Given the description of an element on the screen output the (x, y) to click on. 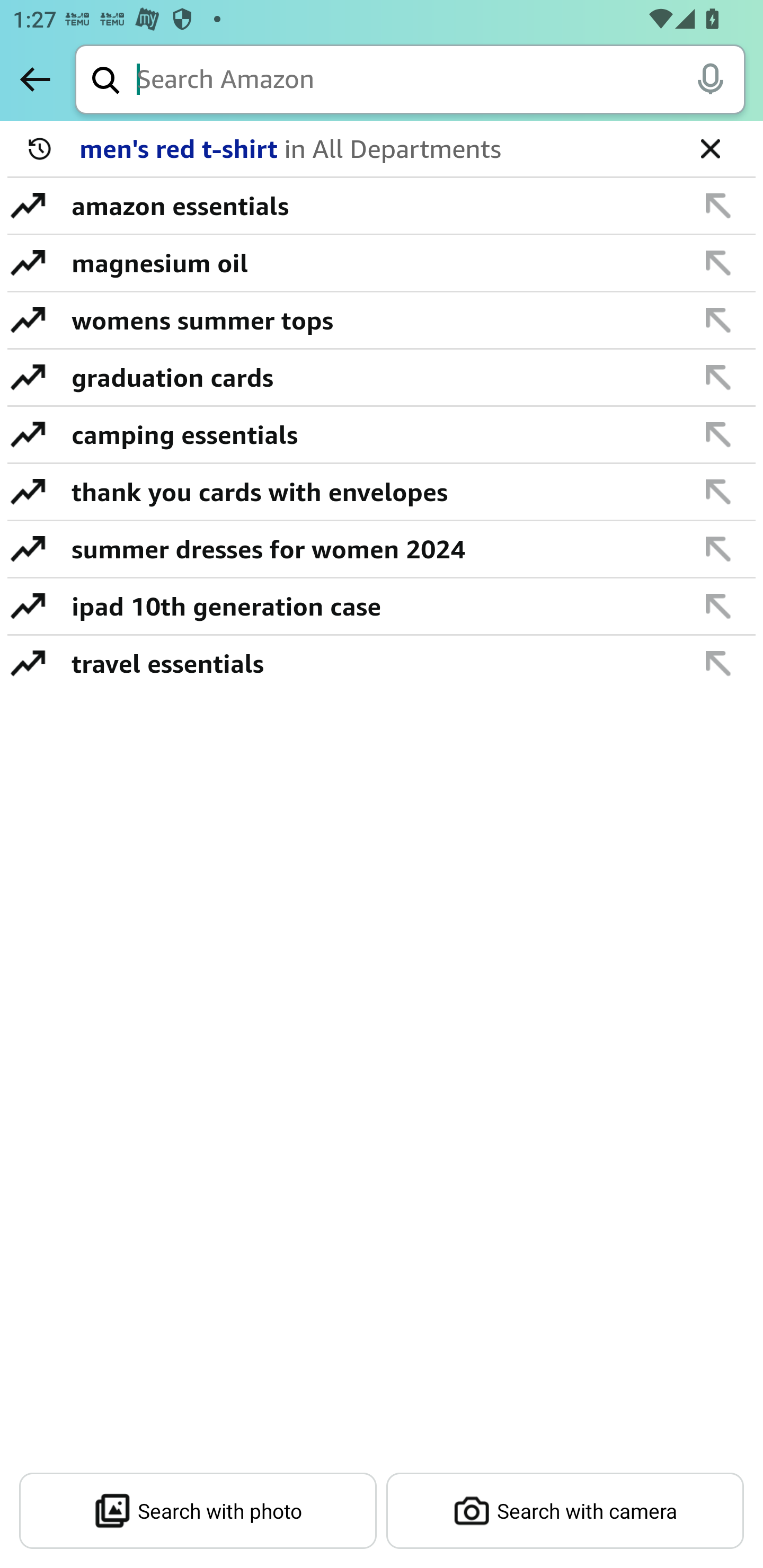
Search Amazon (440, 80)
Back (35, 78)
Alexa (710, 78)
men's red t-shirt delete (381, 149)
men's red t-shirt (374, 149)
delete (710, 147)
amazon essentials (370, 205)
amazon essentials append suggestion (381, 206)
append suggestion (718, 205)
magnesium oil (370, 262)
magnesium oil append suggestion (381, 263)
append suggestion (718, 262)
womens summer tops (370, 319)
womens summer tops append suggestion (381, 320)
append suggestion (718, 319)
graduation cards (370, 377)
graduation cards append suggestion (381, 377)
append suggestion (718, 376)
camping essentials (370, 434)
camping essentials append suggestion (381, 435)
append suggestion (718, 434)
thank you cards with envelopes (370, 491)
thank you cards with envelopes append suggestion (381, 492)
append suggestion (718, 491)
summer dresses for women 2024 (370, 548)
summer dresses for women 2024 append suggestion (381, 549)
append suggestion (718, 548)
ipad 10th generation case (370, 606)
ipad 10th generation case append suggestion (381, 606)
append suggestion (718, 605)
travel essentials (370, 663)
travel essentials append suggestion (381, 663)
append suggestion (718, 663)
Search with photo (197, 1510)
Search with camera (564, 1510)
